Given the description of an element on the screen output the (x, y) to click on. 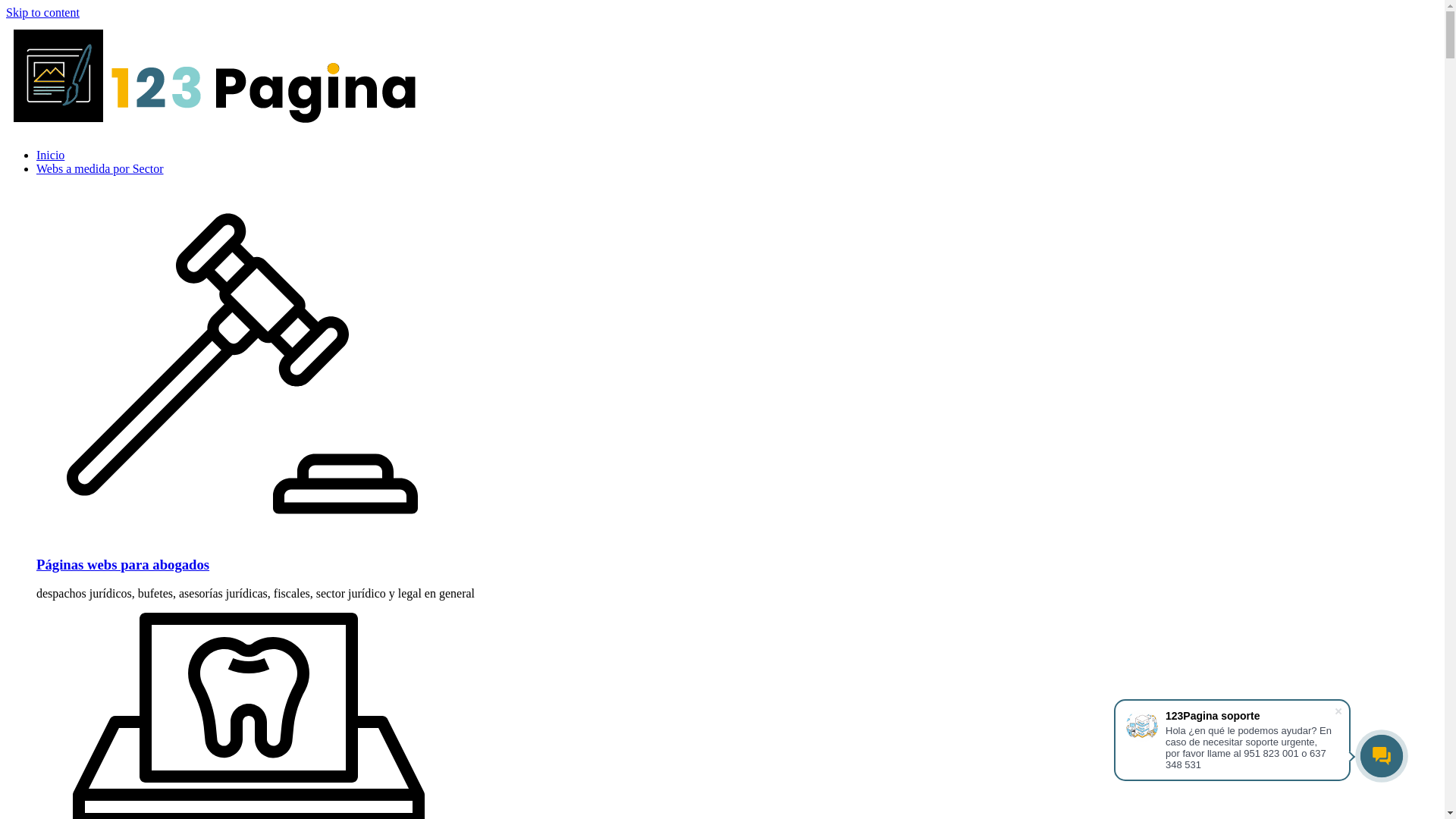
Skip to content Element type: text (42, 12)
Inicio Element type: text (737, 155)
Webs a medida por Sector Element type: text (737, 168)
